Given the description of an element on the screen output the (x, y) to click on. 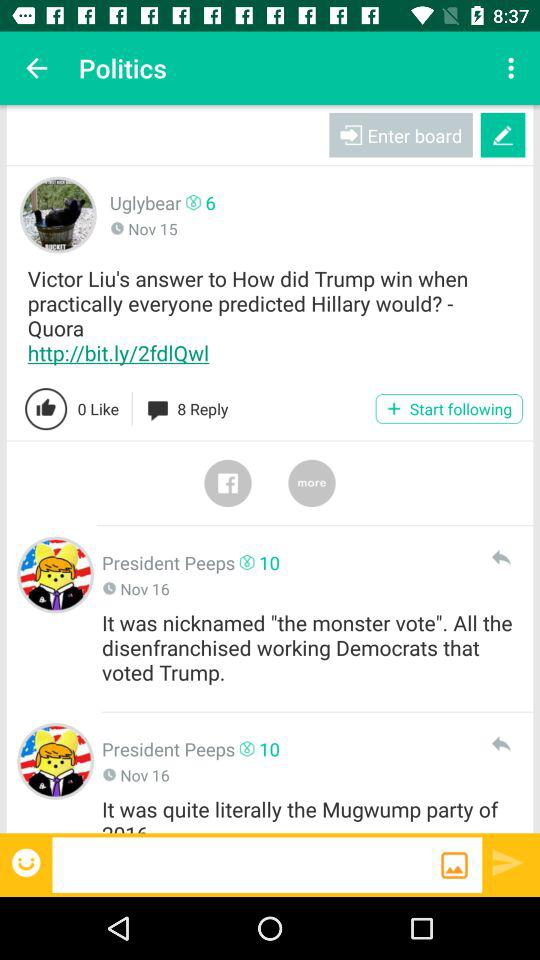
insert image (454, 865)
